Given the description of an element on the screen output the (x, y) to click on. 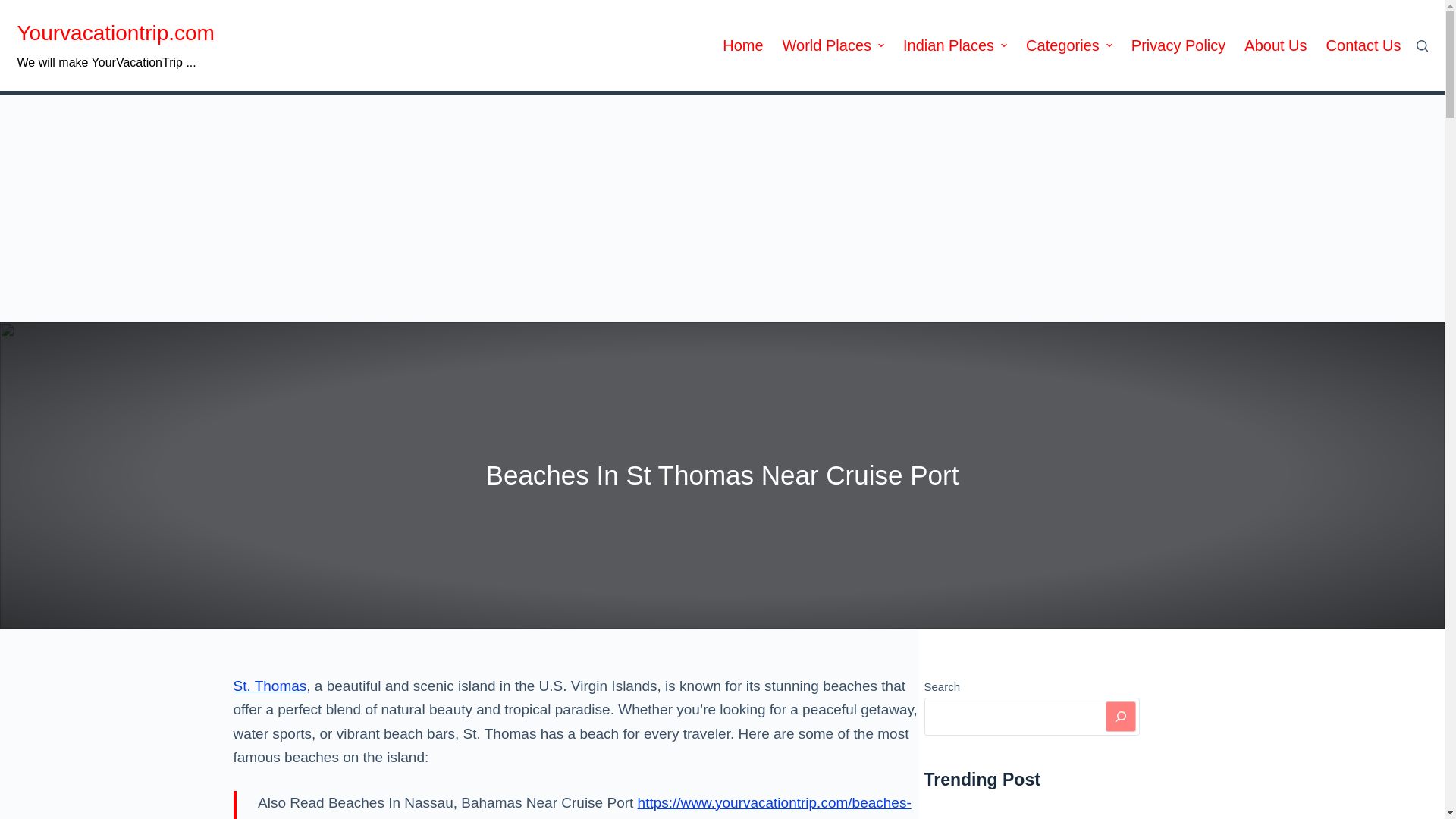
Skip to content (15, 7)
Beaches In St Thomas Near Cruise Port (722, 475)
